Given the description of an element on the screen output the (x, y) to click on. 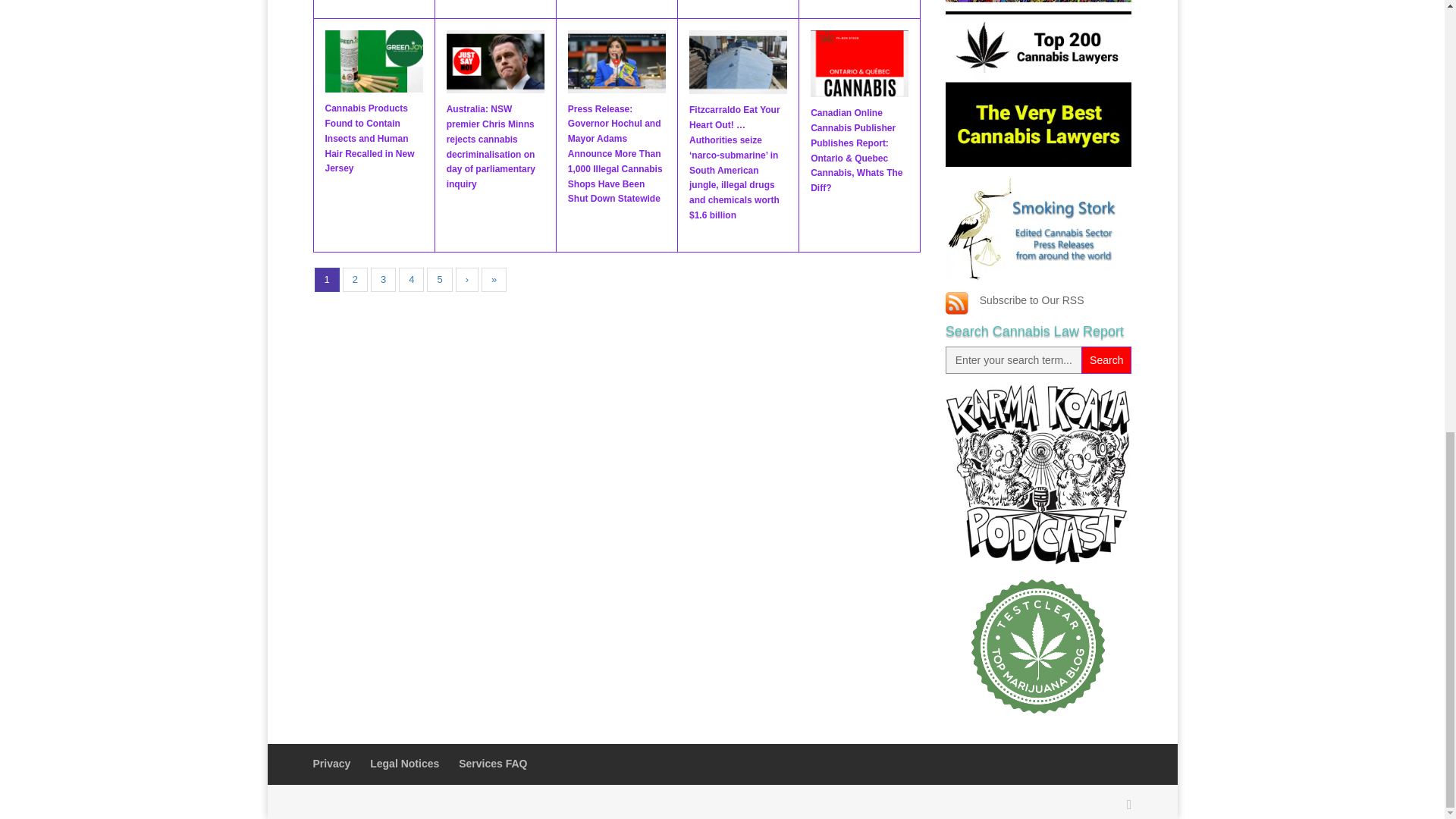
Go to next page (467, 279)
Go to page 3 (383, 279)
Go to last page (493, 279)
Go to page 5 (438, 279)
Current page is 1 (326, 279)
Search (1106, 359)
Go to page 2 (355, 279)
Go to page 4 (410, 279)
Search (1106, 359)
